Given the description of an element on the screen output the (x, y) to click on. 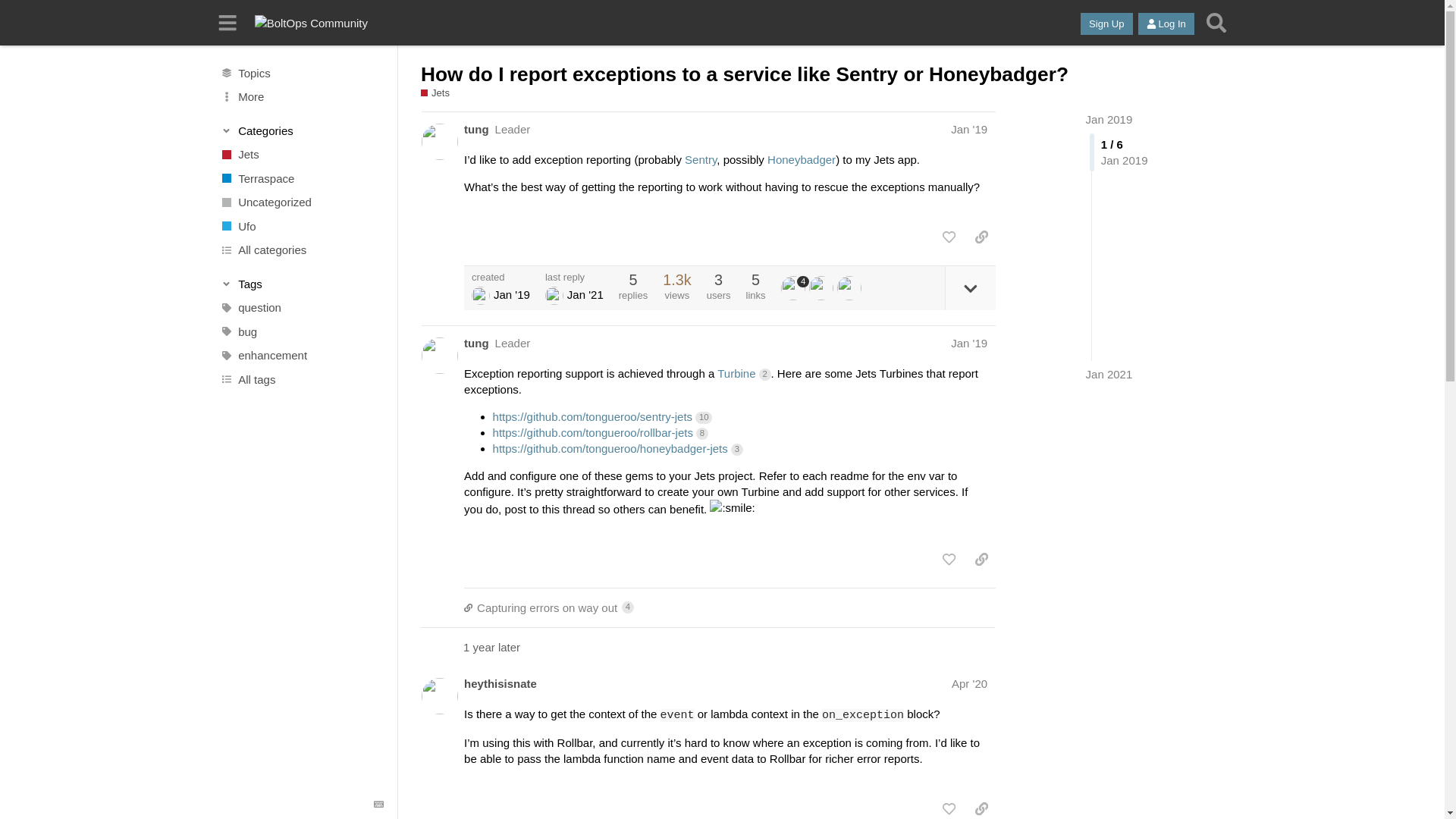
Terraspace (301, 178)
Tags (301, 283)
Log In (1165, 24)
The Ruby Serverless Framework - rubyonjets.com (439, 92)
All tags (301, 379)
Jan 2019 (1109, 119)
last reply (574, 276)
More (301, 96)
Toggle section (301, 283)
The Ruby Serverless Framework - rubyonjets.com (301, 154)
Keyboard Shortcuts (378, 805)
Uncategorized (301, 202)
AWS ECS Deployment Tool - ufoships.com (301, 225)
Jets (301, 154)
